Given the description of an element on the screen output the (x, y) to click on. 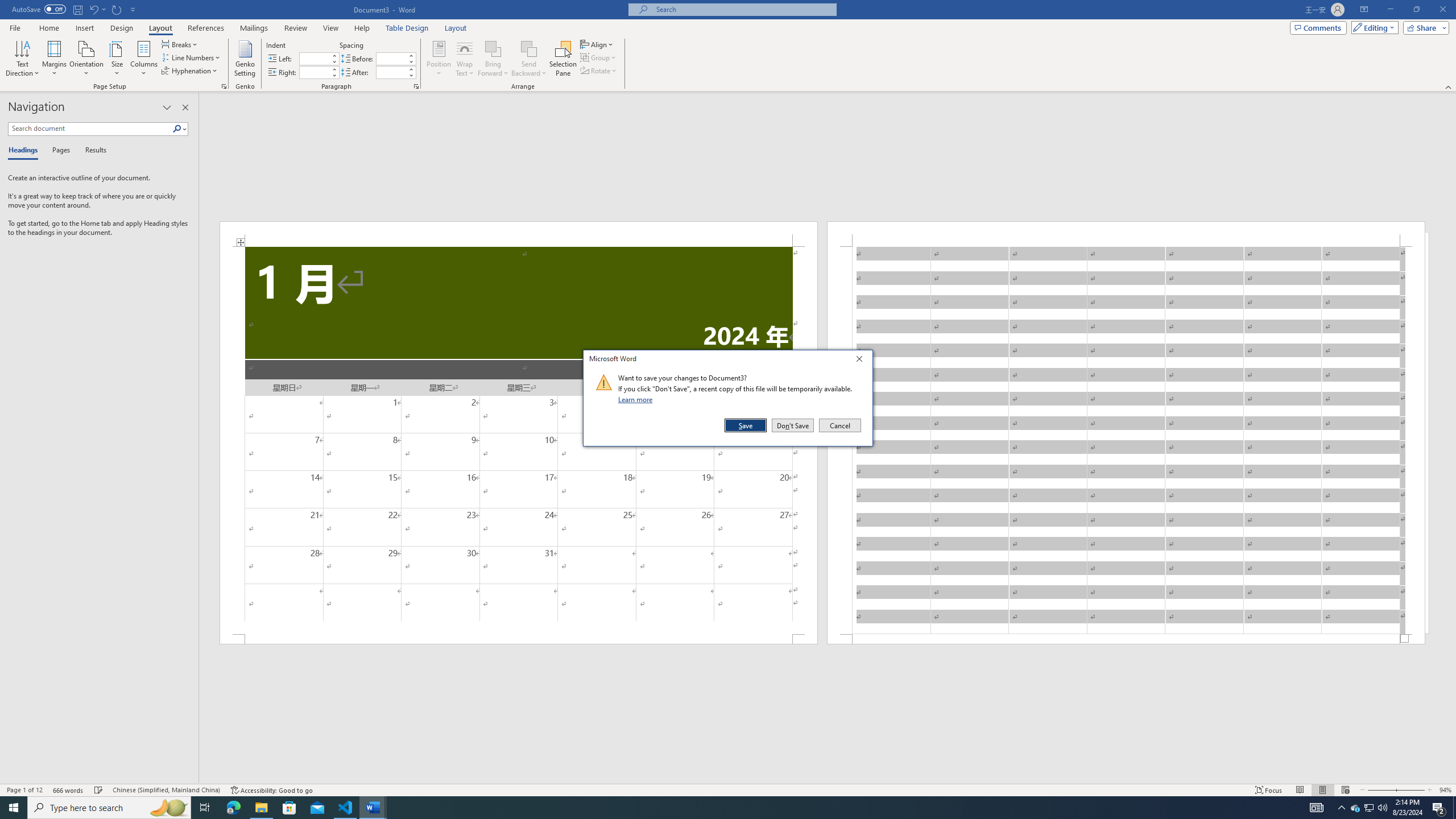
Spacing After (391, 72)
Don't Save (792, 425)
Send Backward (528, 58)
Word - 2 running windows (373, 807)
